Given the description of an element on the screen output the (x, y) to click on. 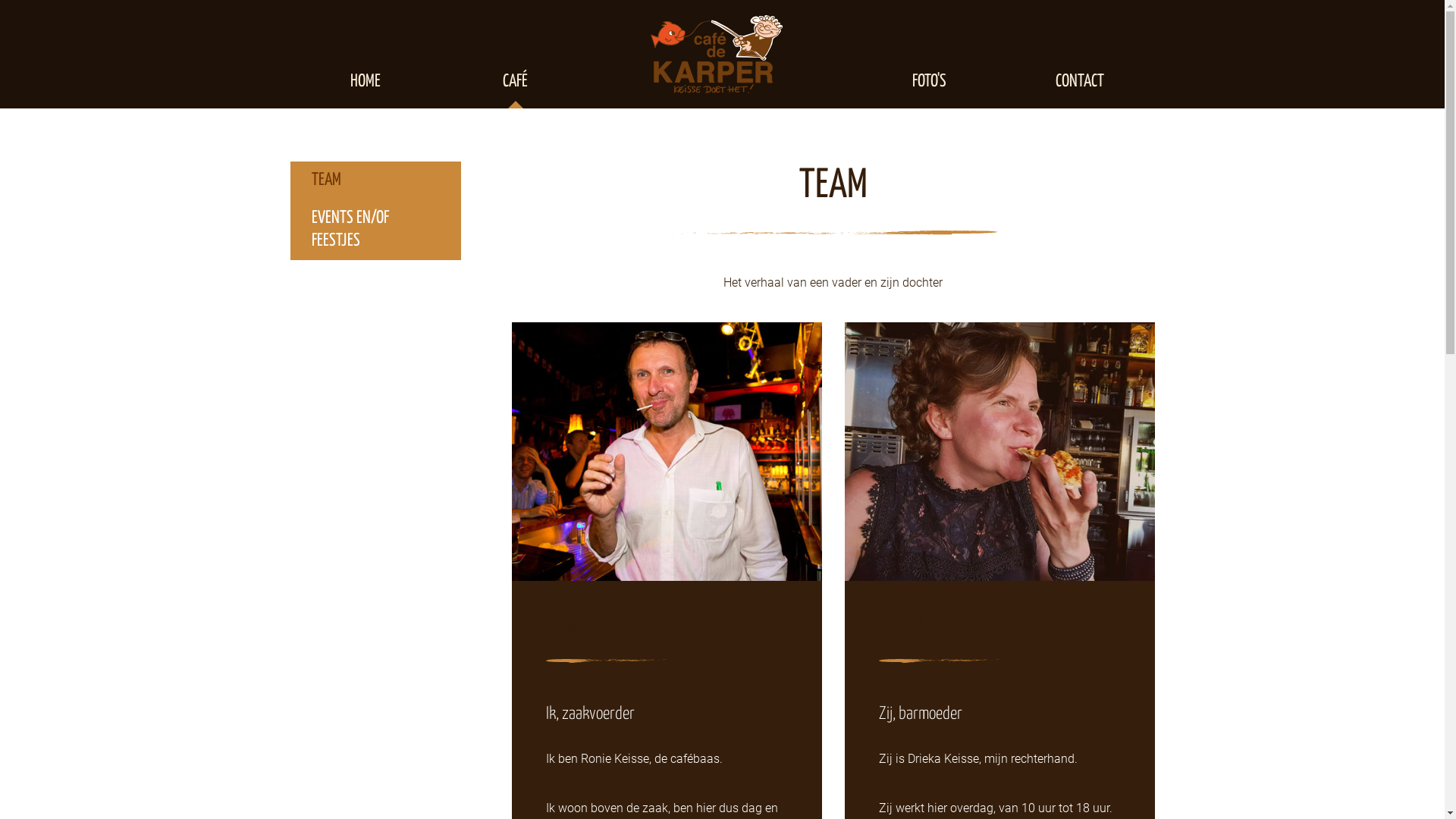
TEAM Element type: text (374, 180)
CONTACT Element type: text (1079, 81)
Ronie Element type: hover (666, 451)
FOTO'S Element type: text (928, 81)
EVENTS EN/OF FEESTJES Element type: text (374, 229)
Drieka Element type: hover (999, 451)
HOME Element type: text (364, 81)
